Given the description of an element on the screen output the (x, y) to click on. 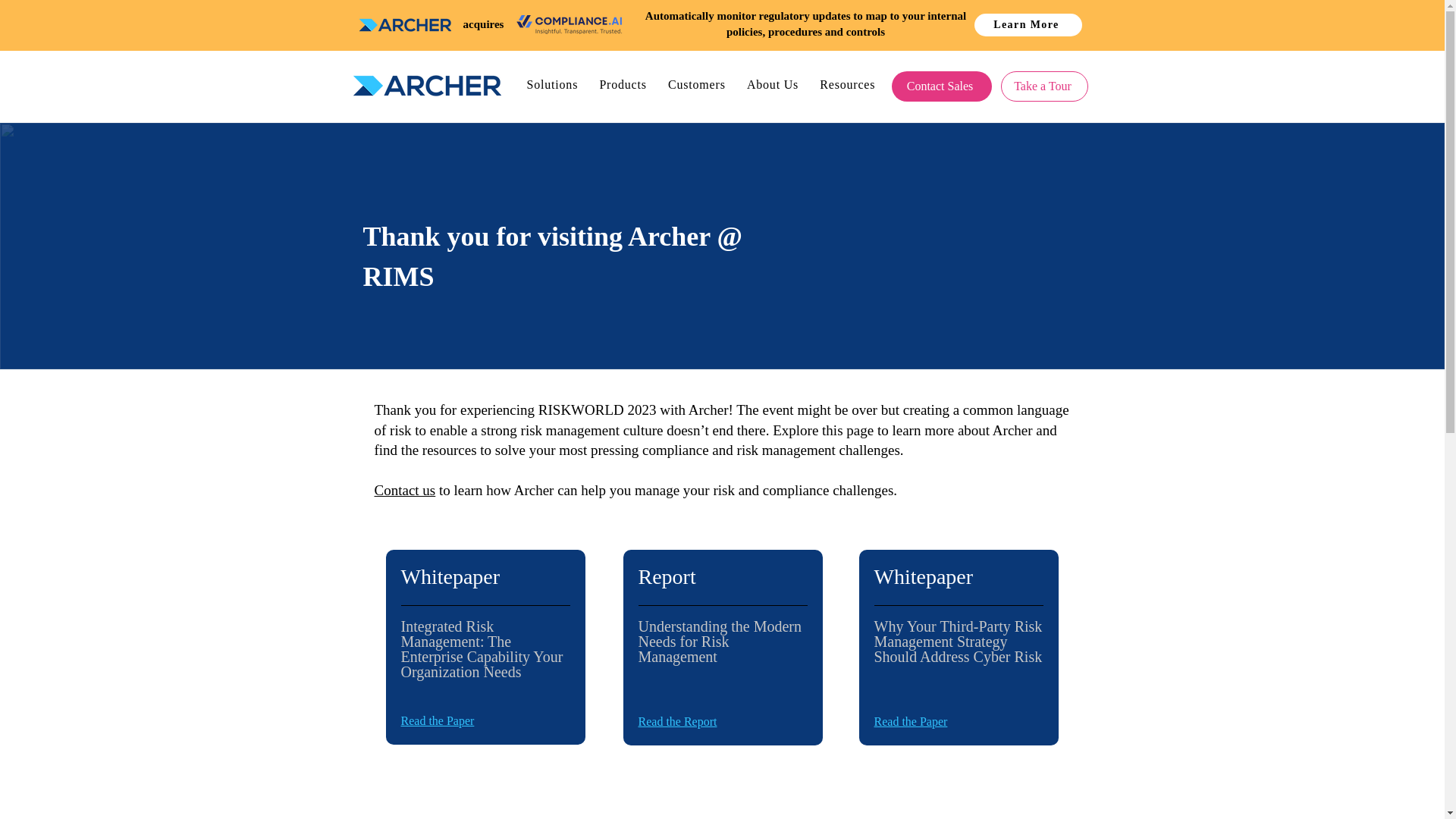
Take a Tour (1044, 86)
Contact Sales (941, 86)
Solutions (555, 84)
Products (627, 84)
Contact us (404, 489)
Read the Paper (910, 721)
Read the Report (678, 721)
Read the Paper (437, 720)
Resources (851, 84)
About Us (777, 84)
Customers (701, 84)
Learn More (1027, 24)
